Given the description of an element on the screen output the (x, y) to click on. 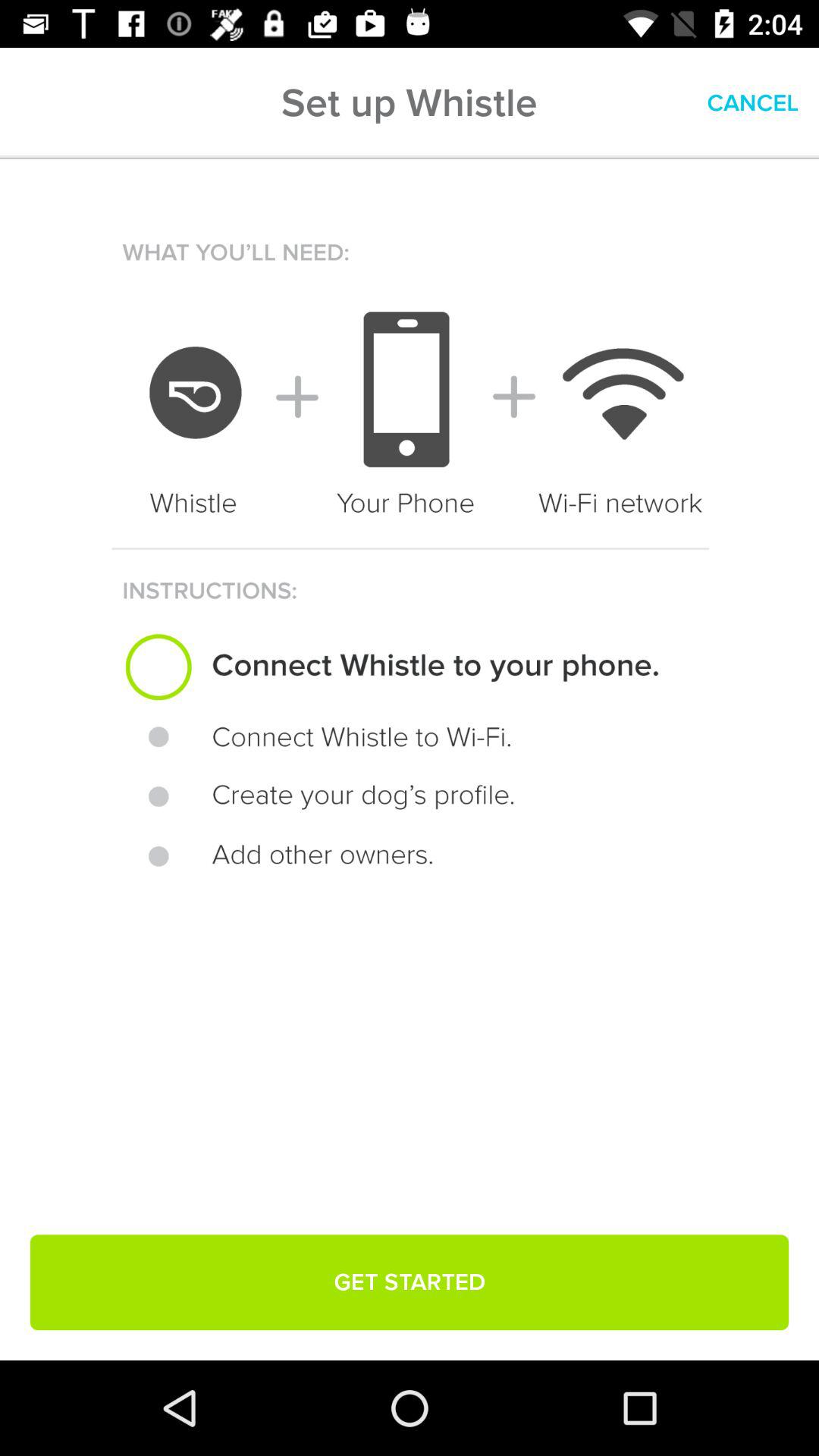
select item next to the set up whistle icon (753, 103)
